Given the description of an element on the screen output the (x, y) to click on. 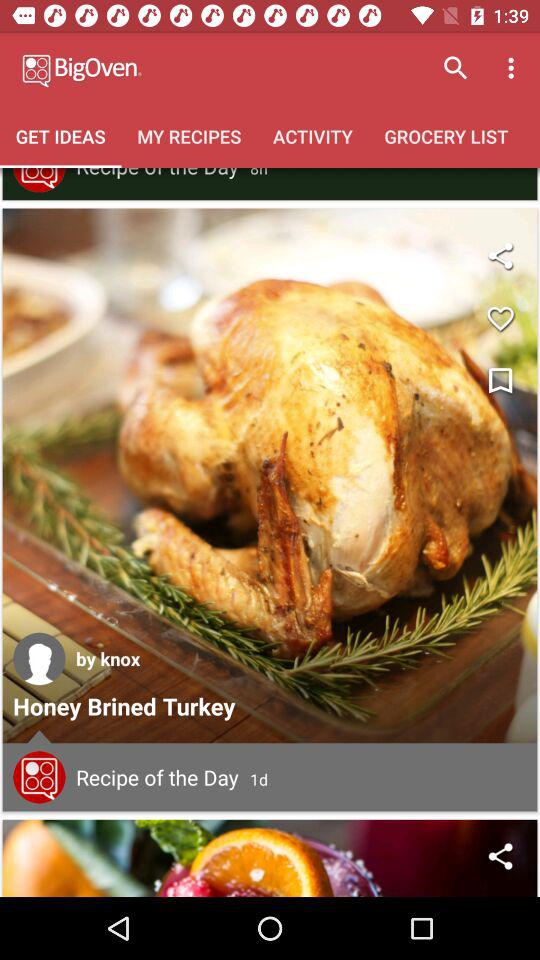
comments section (39, 777)
